Given the description of an element on the screen output the (x, y) to click on. 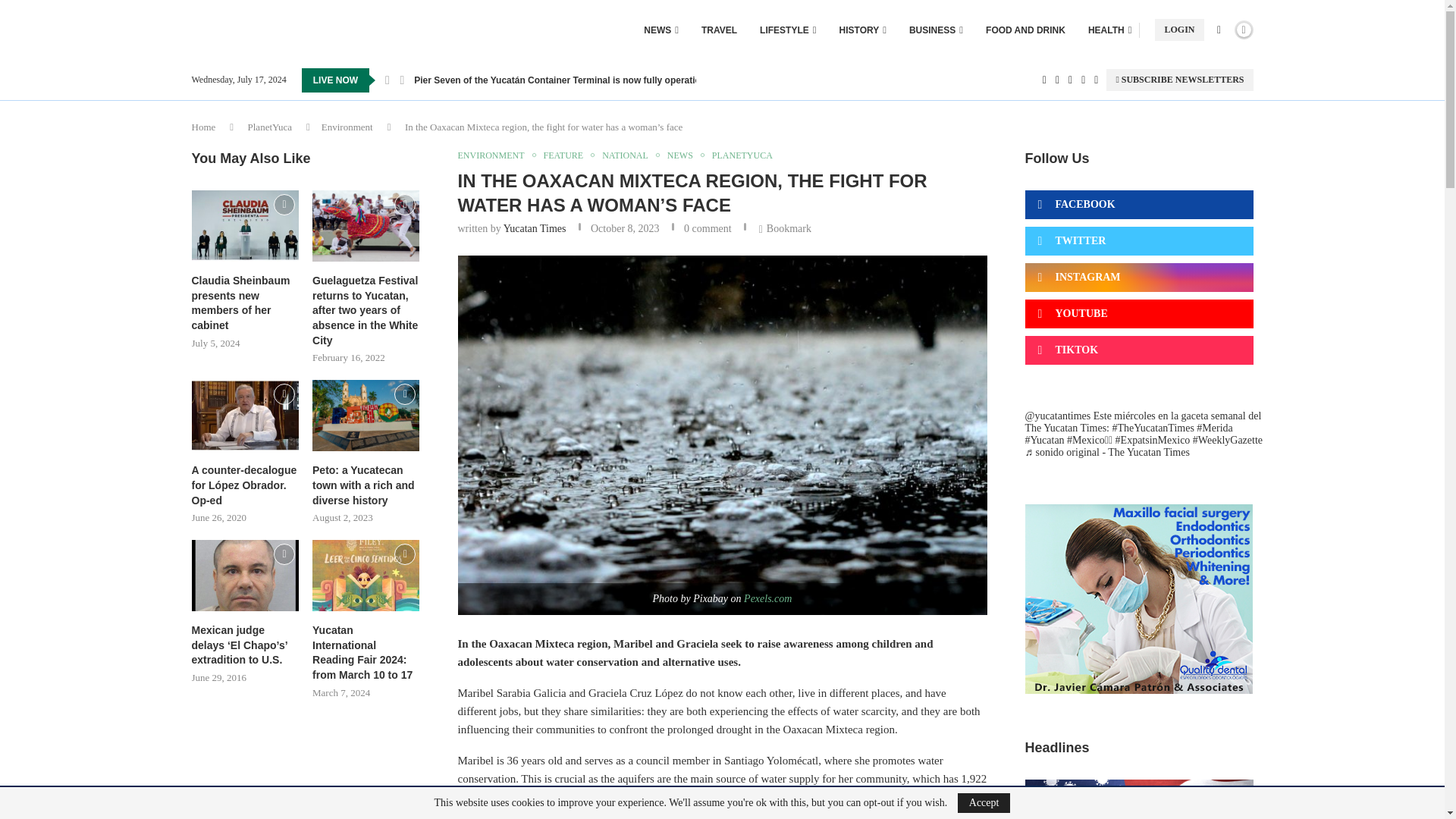
LIFESTYLE (787, 30)
TRAVEL (718, 30)
NEWS (660, 30)
